Given the description of an element on the screen output the (x, y) to click on. 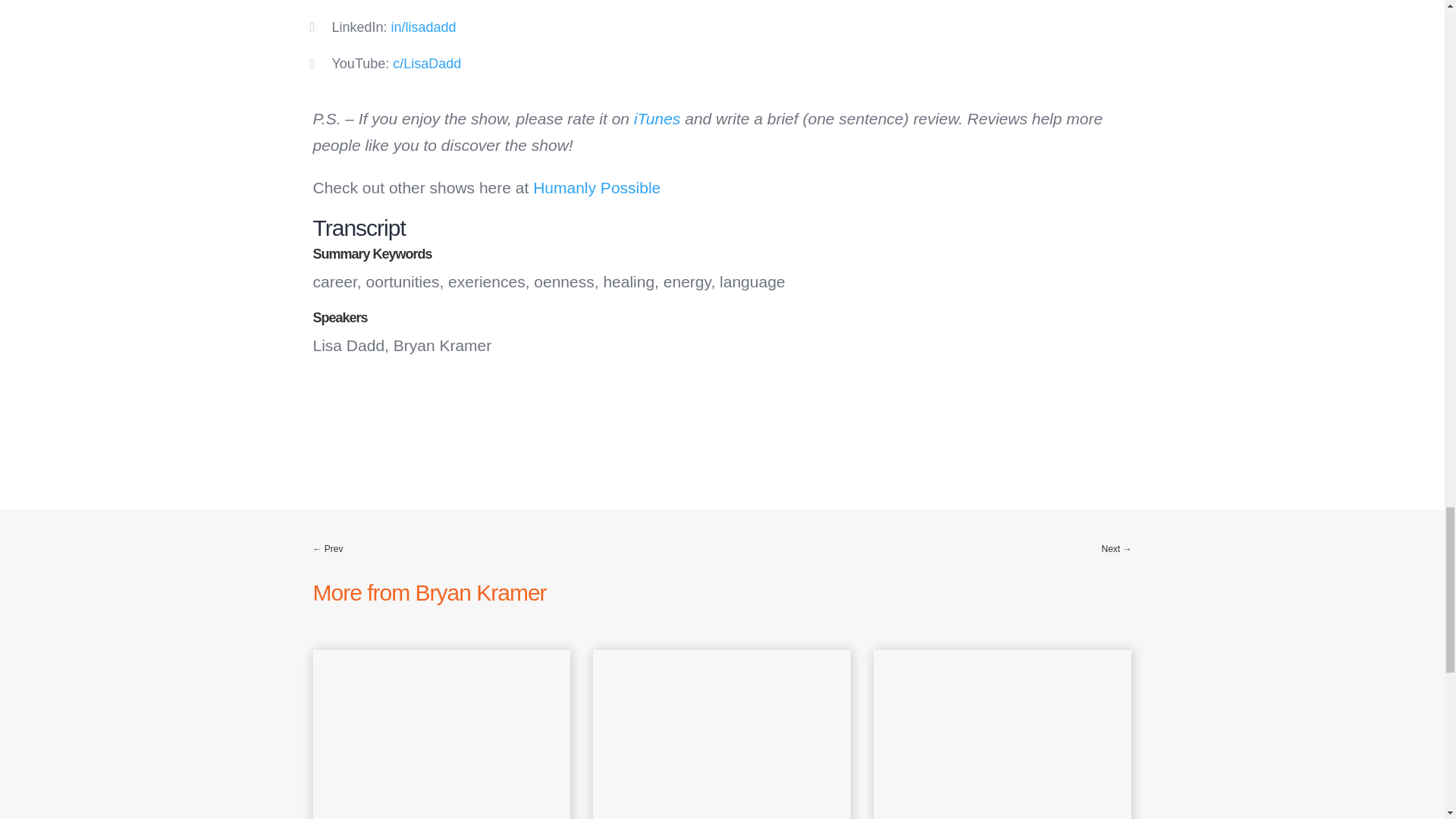
iTunes (656, 118)
Humanly Possible (596, 187)
